Given the description of an element on the screen output the (x, y) to click on. 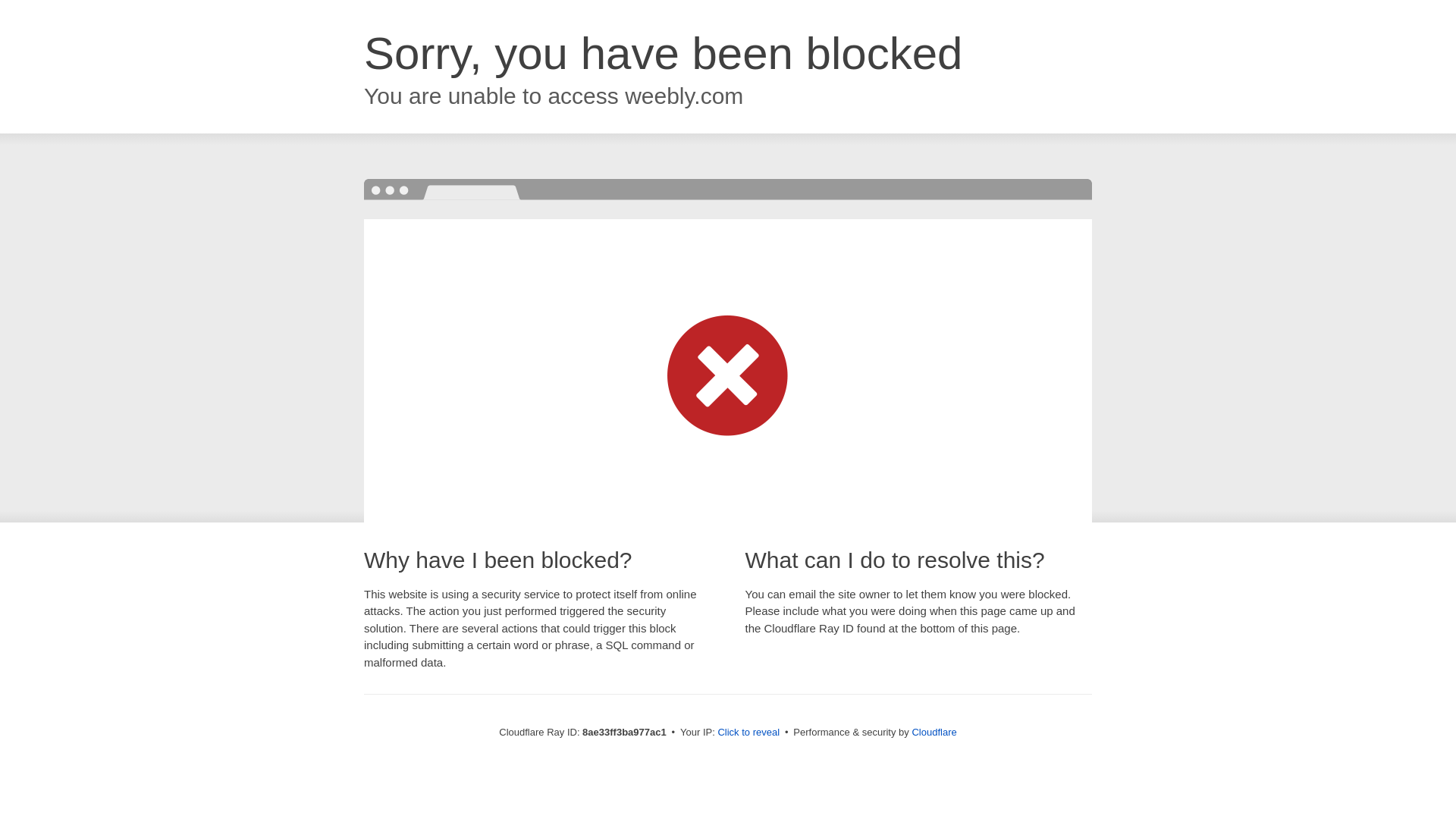
Click to reveal (747, 732)
Cloudflare (933, 731)
